Given the description of an element on the screen output the (x, y) to click on. 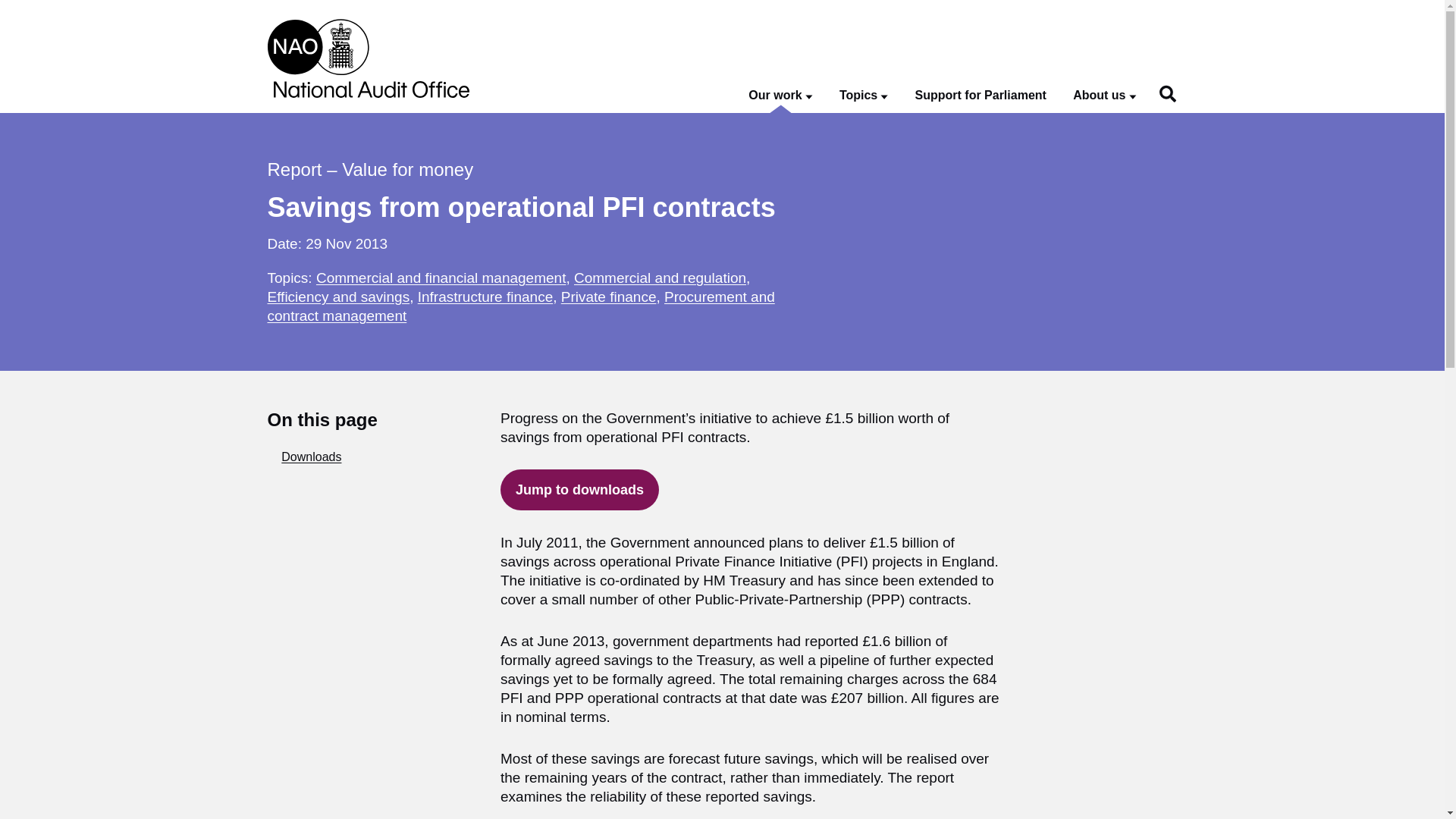
Our work (780, 95)
Topics (864, 95)
Skip to main content (11, 7)
About us (1104, 95)
Support for Parliament (980, 95)
